Given the description of an element on the screen output the (x, y) to click on. 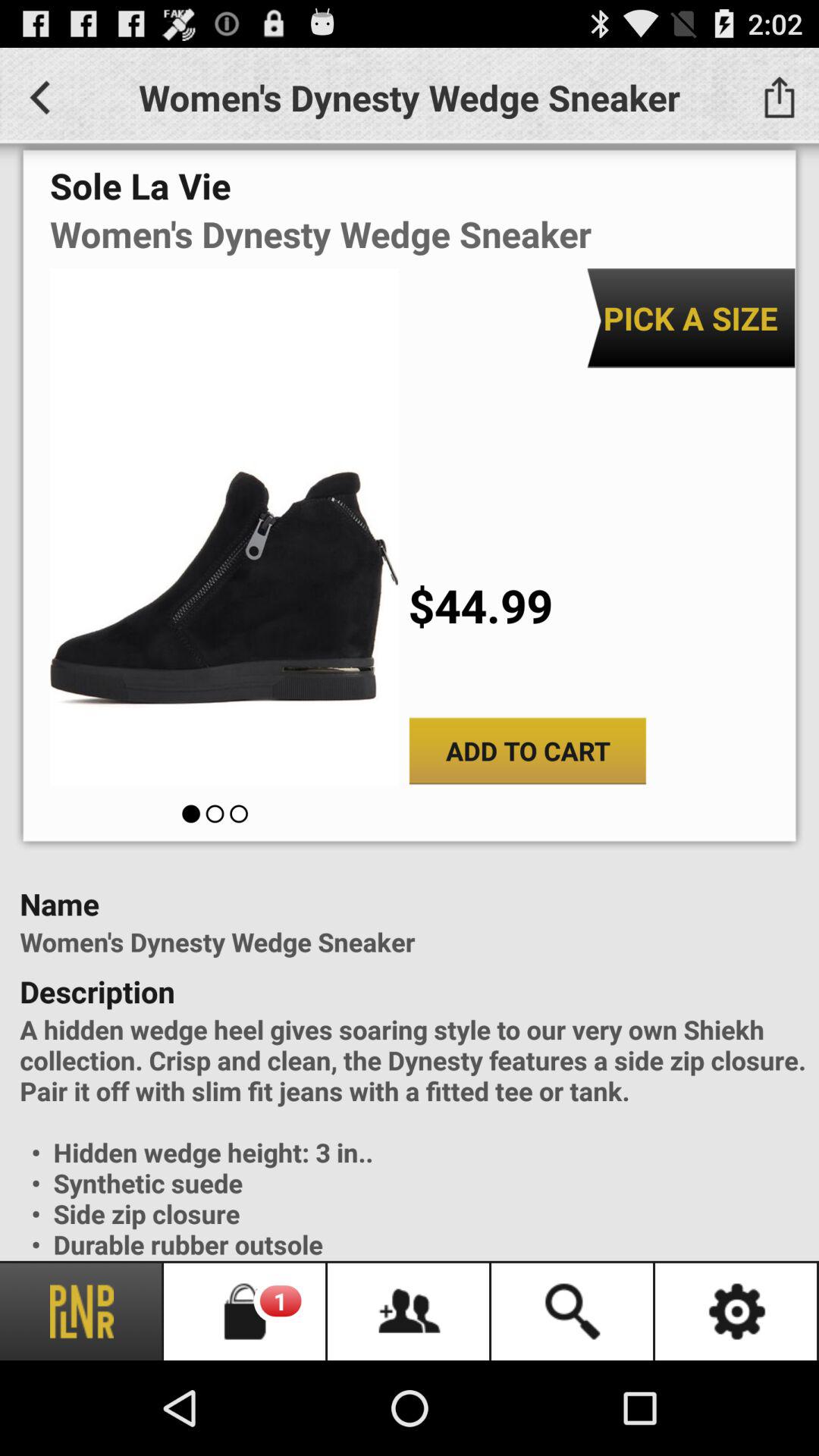
turn on the app below $44.99 (527, 751)
